Given the description of an element on the screen output the (x, y) to click on. 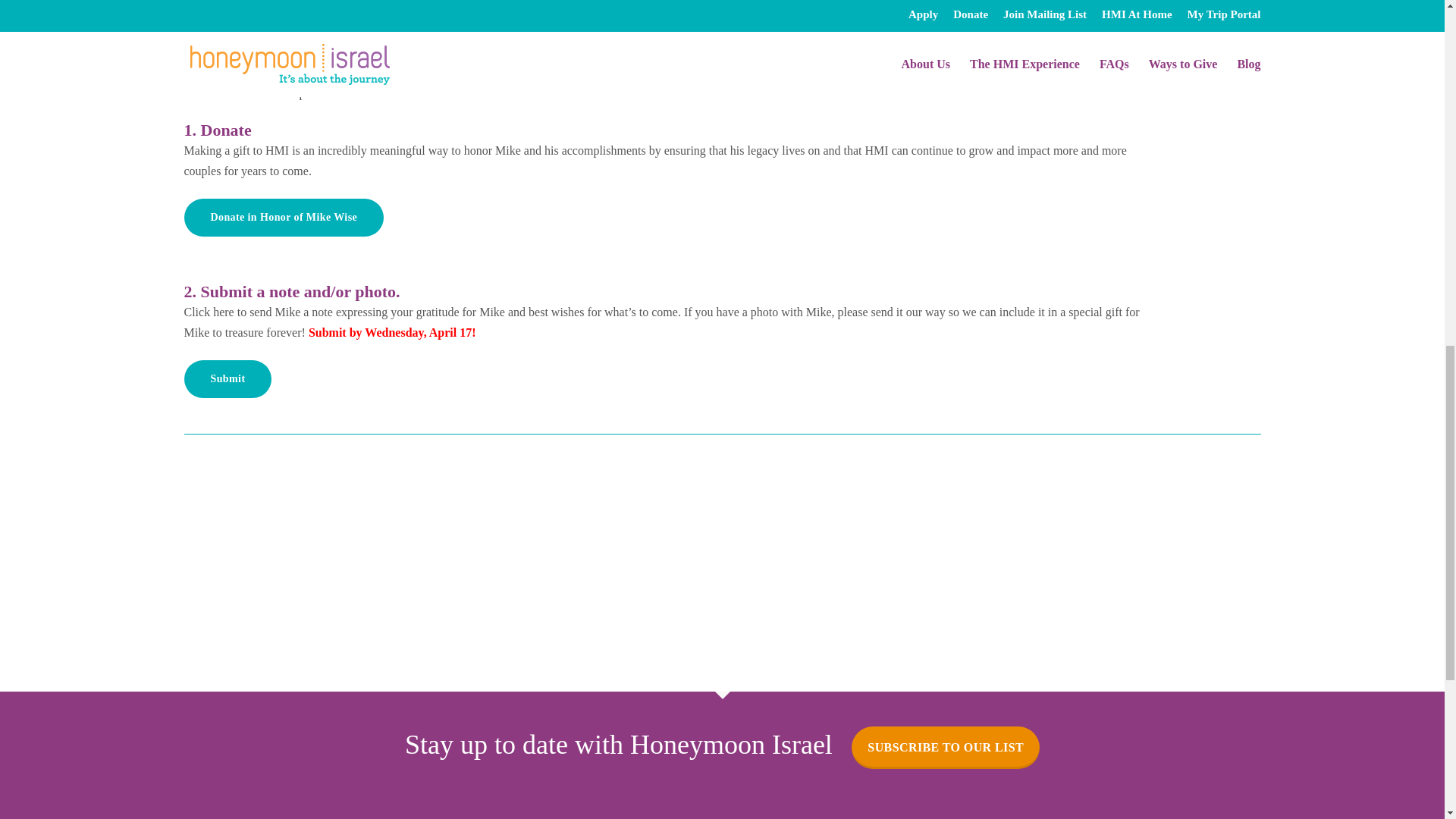
SUBSCRIBE TO OUR LIST (945, 747)
Donate in Honor of Mike Wise (283, 217)
Submit (226, 379)
